Given the description of an element on the screen output the (x, y) to click on. 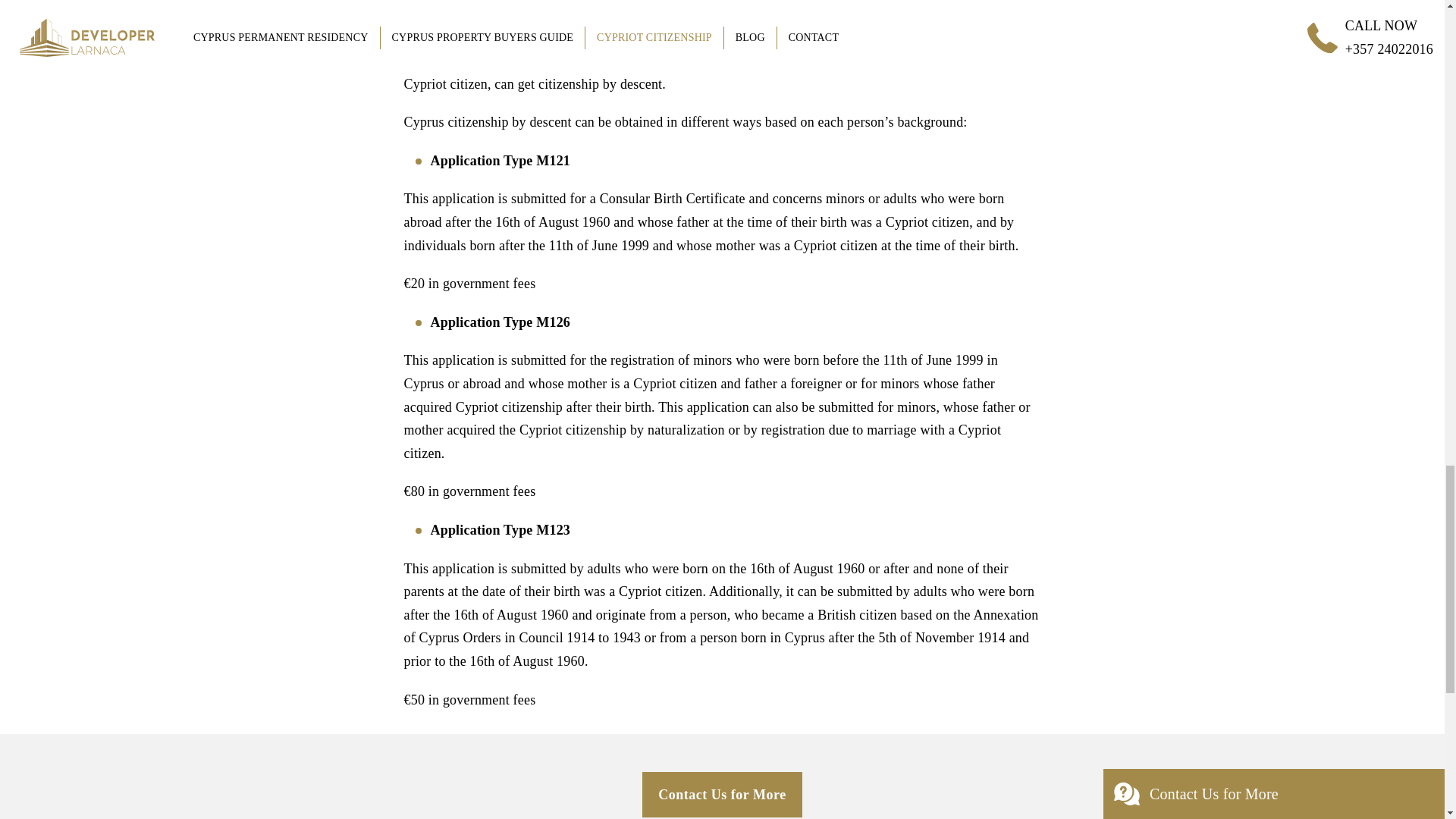
Contact Us for More (722, 794)
